Given the description of an element on the screen output the (x, y) to click on. 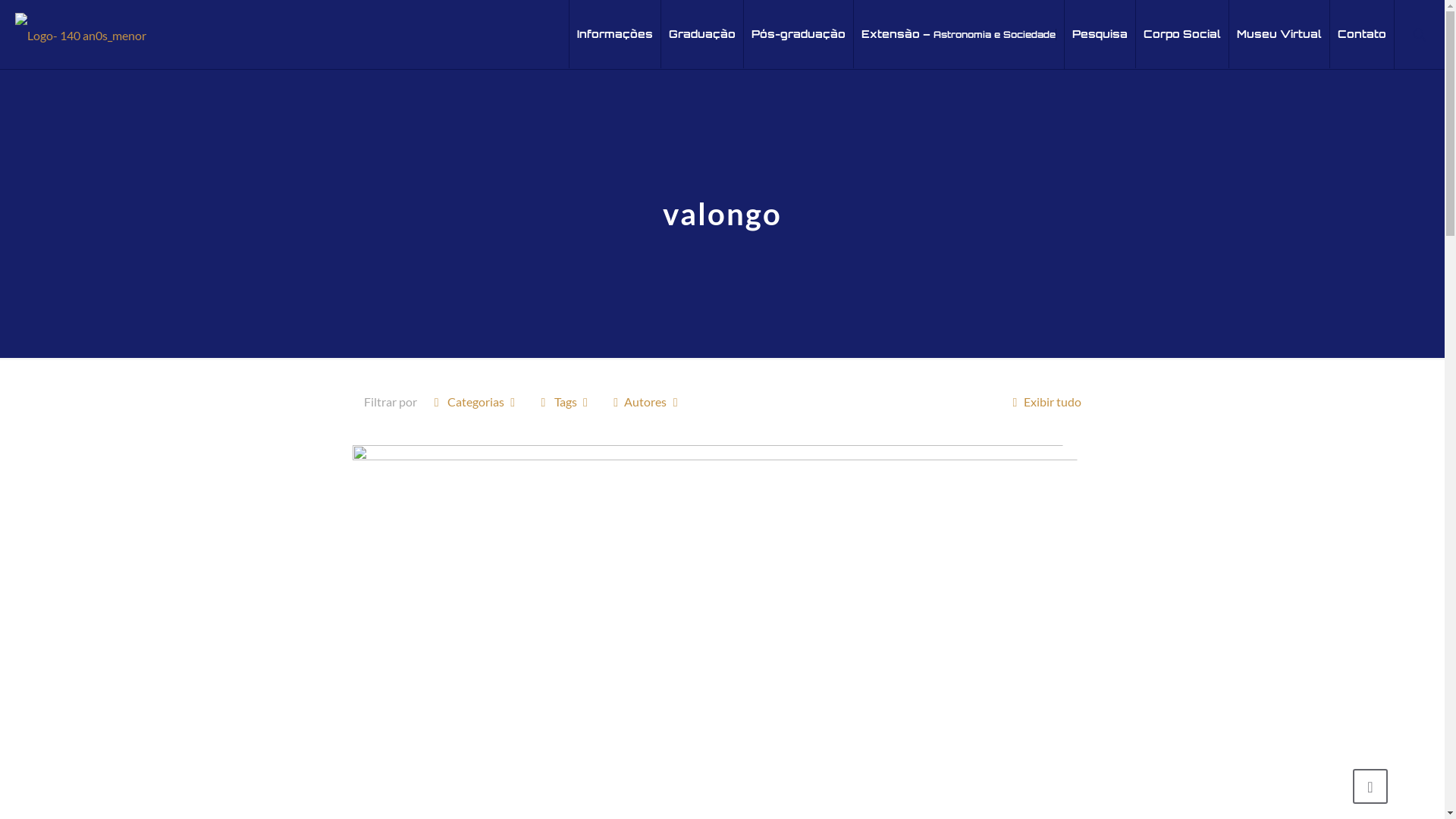
Contato Element type: text (1361, 34)
Tags Element type: text (565, 401)
Museu Virtual Element type: text (1279, 34)
Exibir tudo Element type: text (1043, 401)
Pesquisa Element type: text (1099, 34)
Corpo Social Element type: text (1182, 34)
Autores Element type: text (645, 401)
Categorias Element type: text (475, 401)
